Given the description of an element on the screen output the (x, y) to click on. 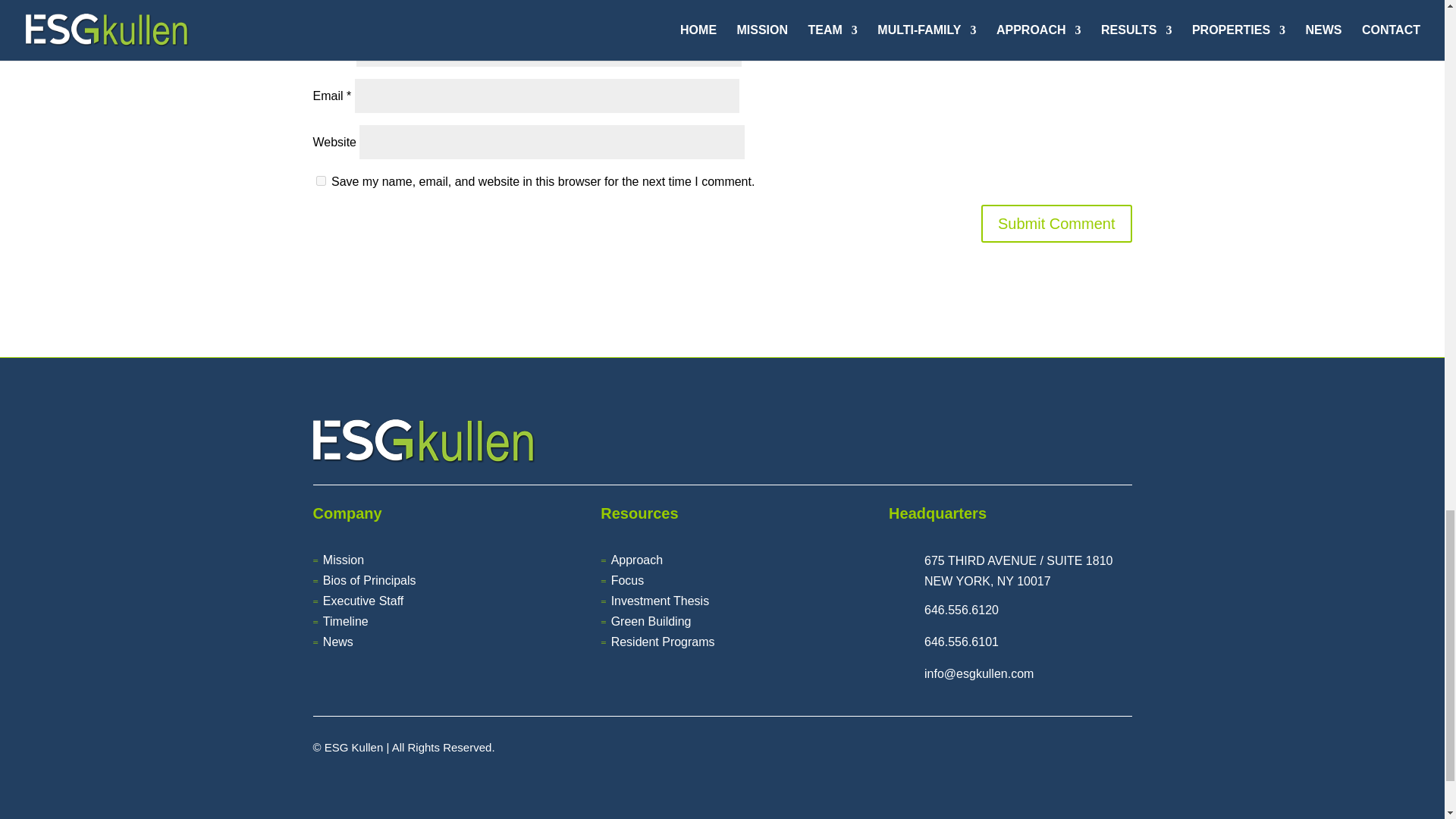
logo-esg (423, 440)
yes (319, 180)
Submit Comment (1056, 223)
